Given the description of an element on the screen output the (x, y) to click on. 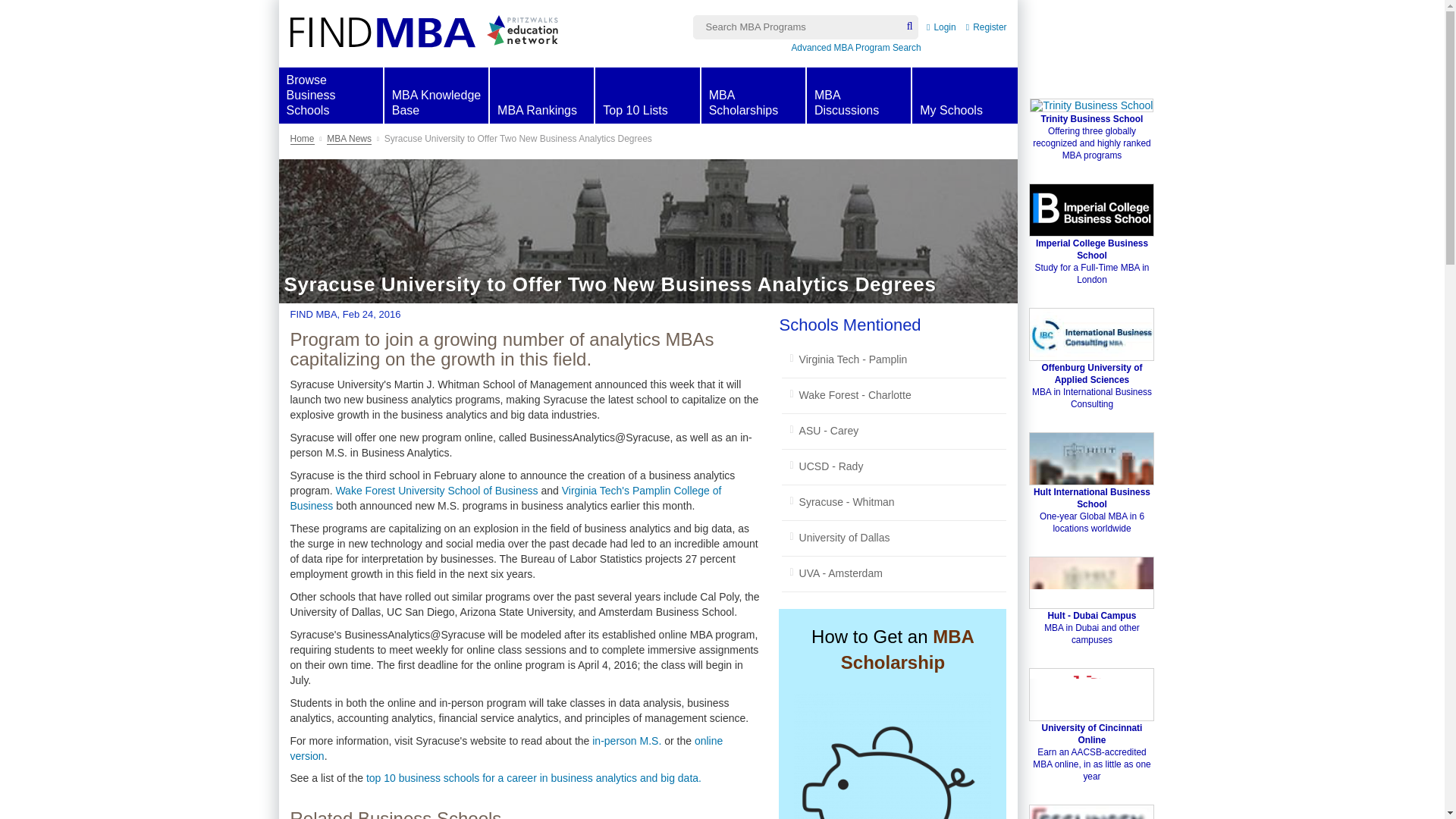
Universiteit van Amsterdam - Amsterdam Business School (893, 573)
Login (330, 94)
Syracuse University - Whitman School of Management (940, 26)
University of Dallas - Gupta College of Business (893, 502)
Register (893, 538)
Virginia Tech - Pamplin College of Business (986, 26)
Advanced MBA Program Search (893, 360)
